Given the description of an element on the screen output the (x, y) to click on. 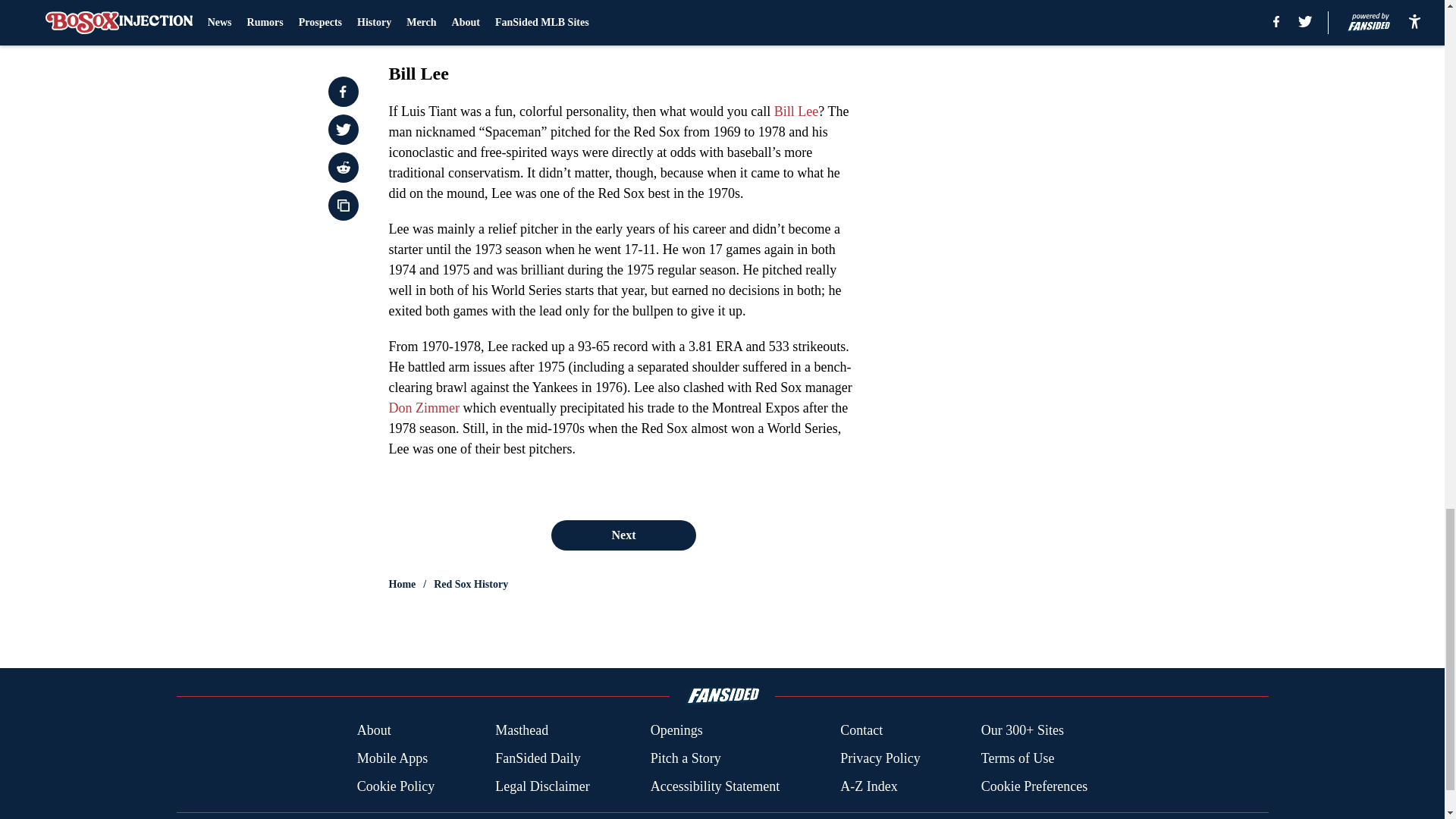
Don Zimmer (423, 407)
Home (401, 584)
Mobile Apps (392, 758)
Openings (676, 730)
About (373, 730)
Legal Disclaimer (542, 786)
FanSided Daily (537, 758)
Red Sox History (470, 584)
Privacy Policy (880, 758)
Masthead (521, 730)
Next (622, 535)
Contact (861, 730)
Bill Lee (796, 111)
Cookie Policy (395, 786)
Terms of Use (1017, 758)
